Given the description of an element on the screen output the (x, y) to click on. 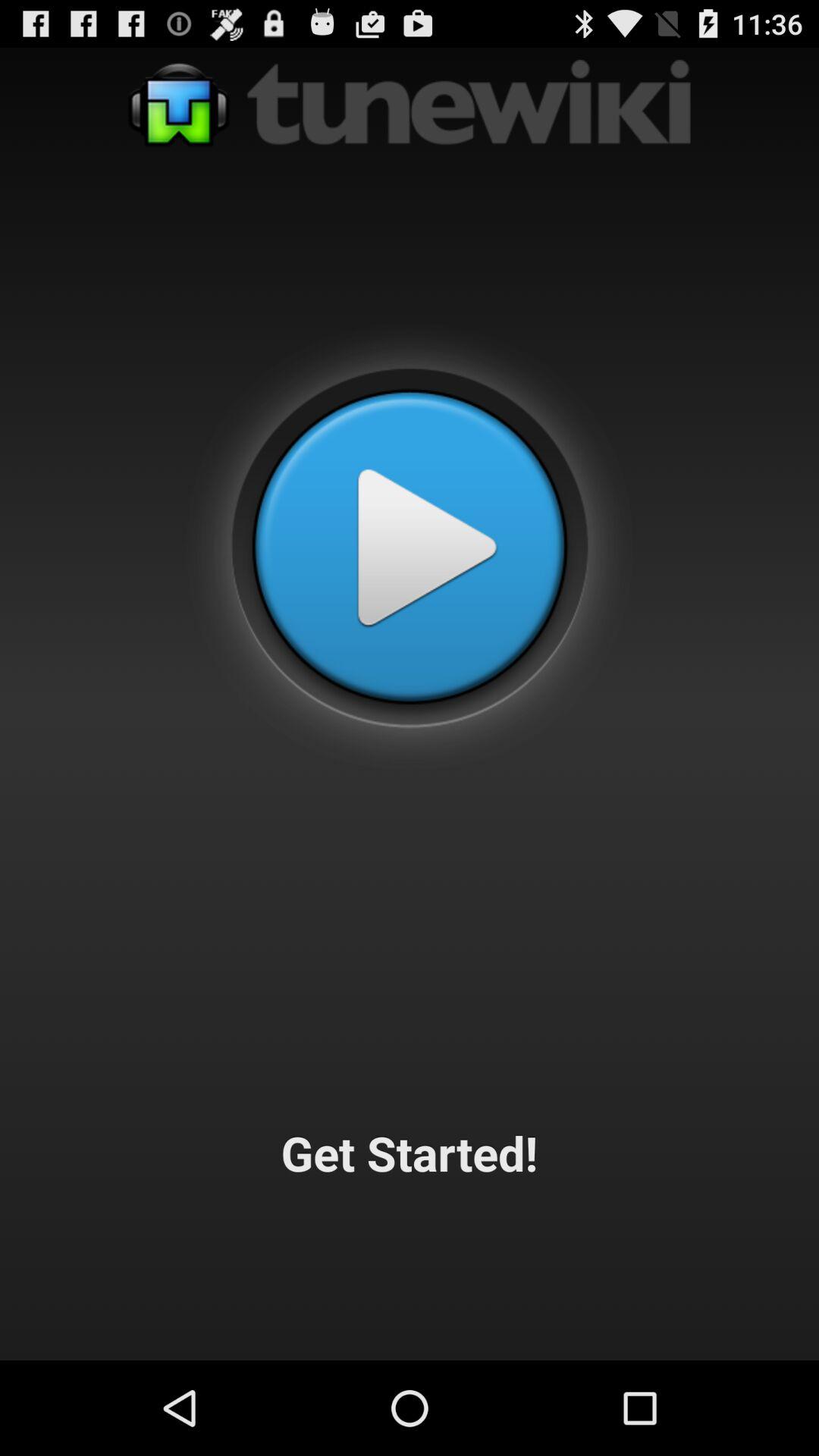
turn on the icon at the center (409, 546)
